Given the description of an element on the screen output the (x, y) to click on. 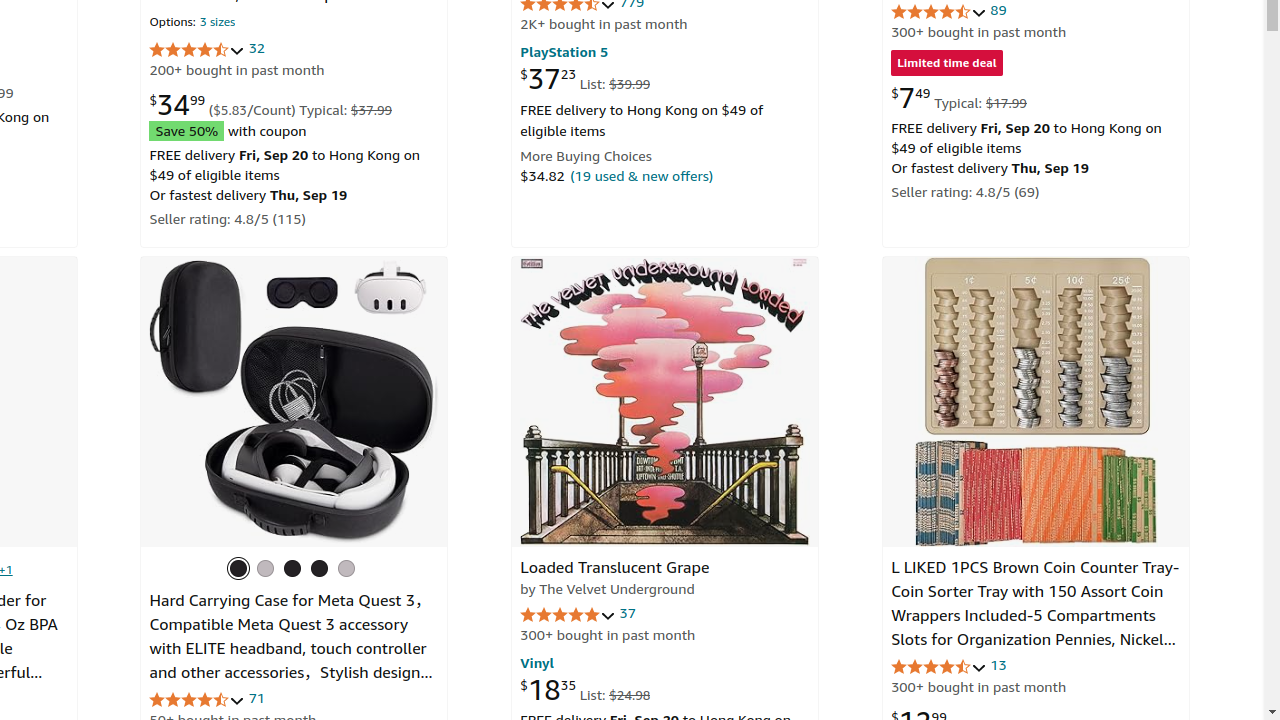
grey Element type: push-button (319, 568)
Limited time deal Element type: link (947, 63)
Grey Element type: push-button (265, 568)
4.4 out of 5 stars Element type: push-button (197, 699)
32 Element type: link (257, 48)
